Given the description of an element on the screen output the (x, y) to click on. 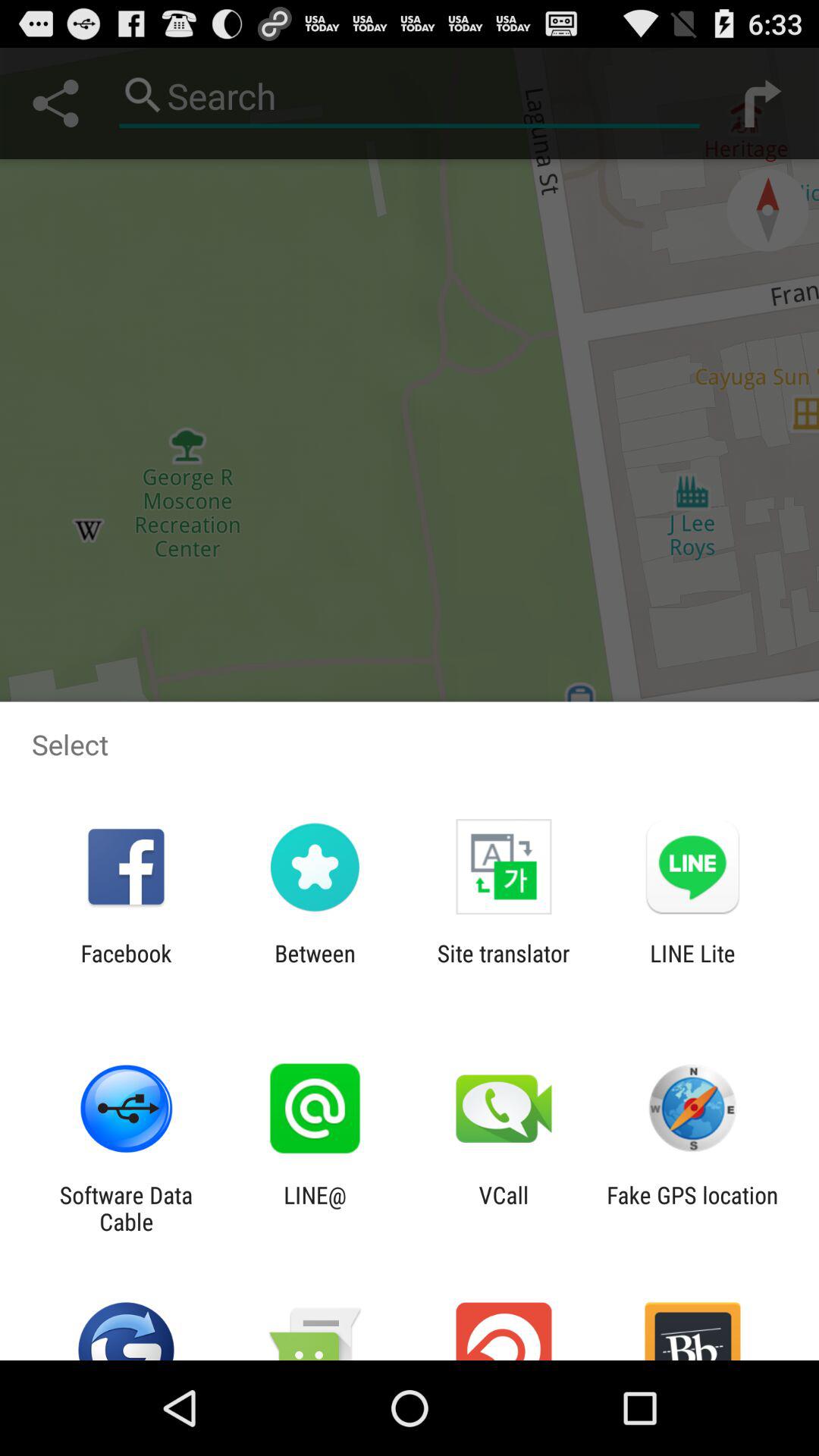
jump to vcall app (503, 1208)
